Given the description of an element on the screen output the (x, y) to click on. 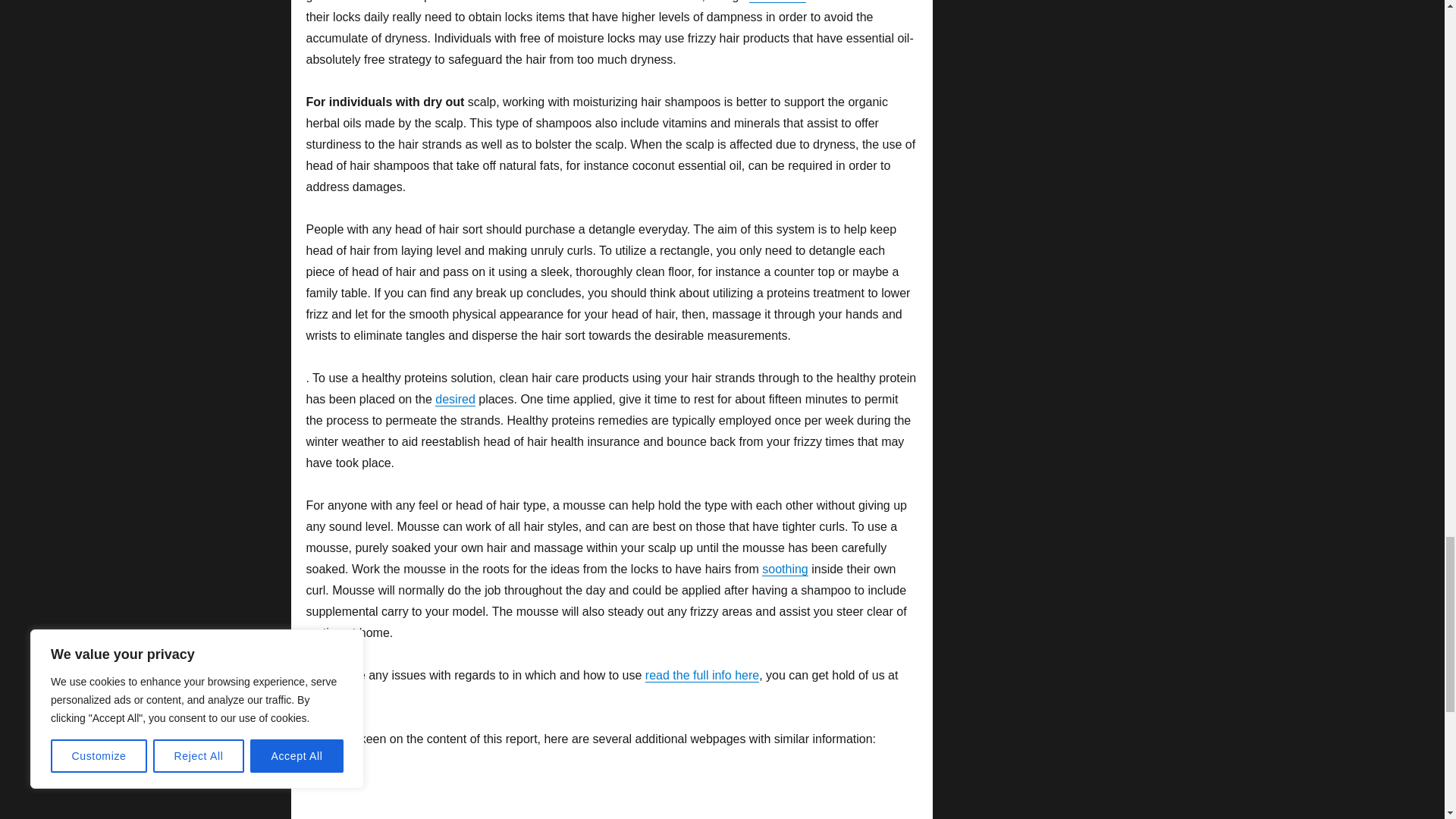
soothing (784, 568)
read the full info here (701, 675)
individuals (777, 1)
desired (454, 399)
Prev (318, 818)
Source (325, 780)
